Given the description of an element on the screen output the (x, y) to click on. 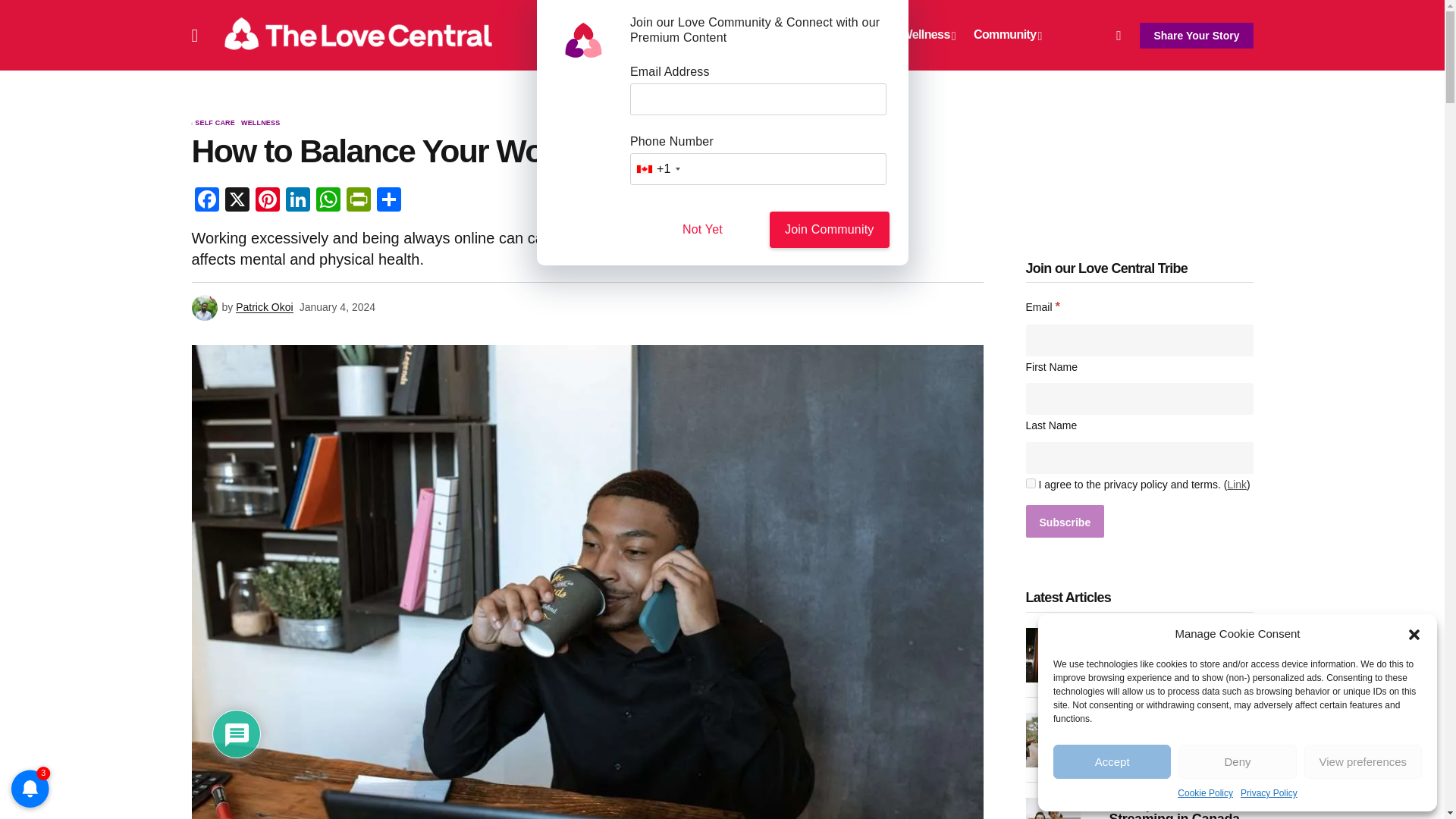
Pinterest (266, 201)
Subscribe (1064, 521)
View preferences (1363, 761)
PrintFriendly (357, 201)
Cookie Policy (1205, 793)
WhatsApp (327, 201)
Privacy Policy (1268, 793)
Accept (1111, 761)
LinkedIn (297, 201)
1 (1030, 483)
X (236, 201)
Deny (1236, 761)
Facebook (205, 201)
